Given the description of an element on the screen output the (x, y) to click on. 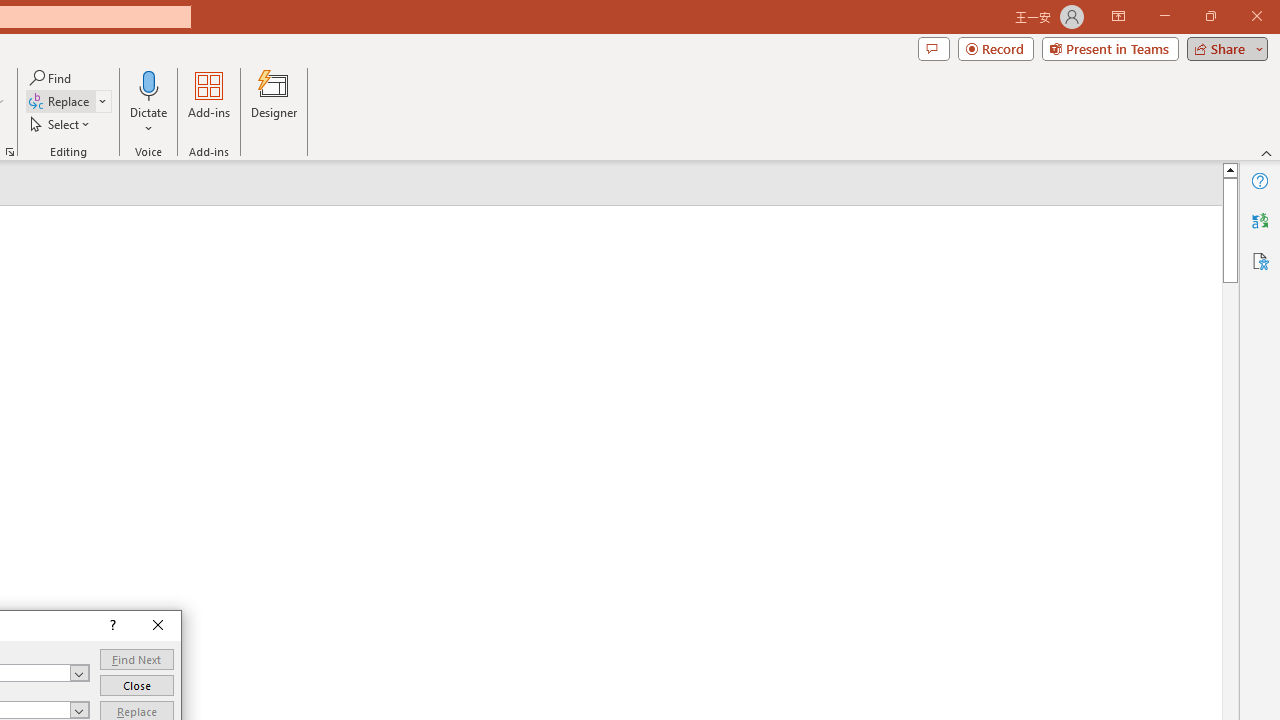
Find Next (136, 659)
